Given the description of an element on the screen output the (x, y) to click on. 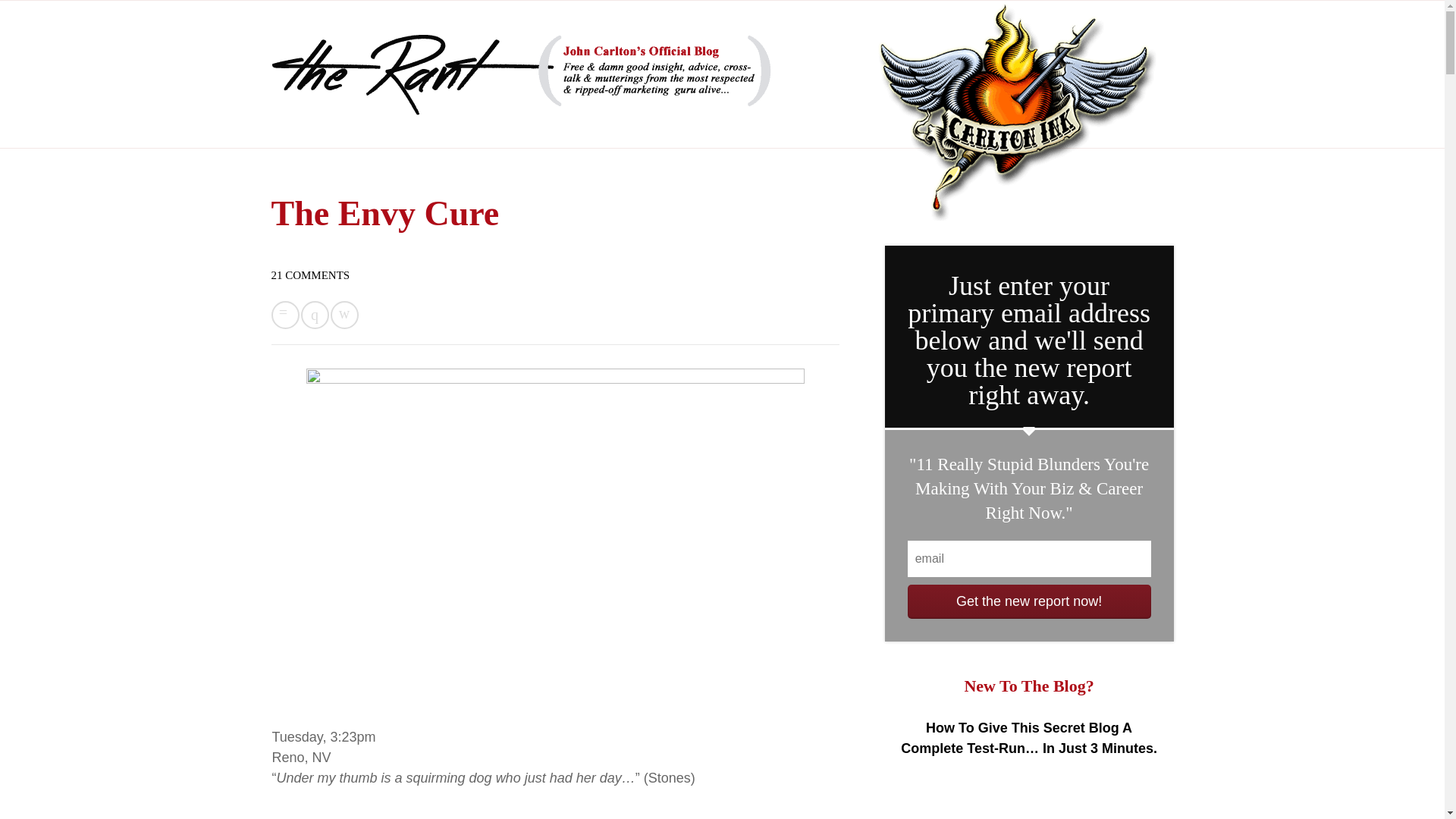
HOME (282, 136)
CONSULTING (420, 136)
ABOUT (342, 136)
CONTACT (504, 136)
PHOTO GALLERY (599, 136)
Get the new report now! (1029, 601)
